Given the description of an element on the screen output the (x, y) to click on. 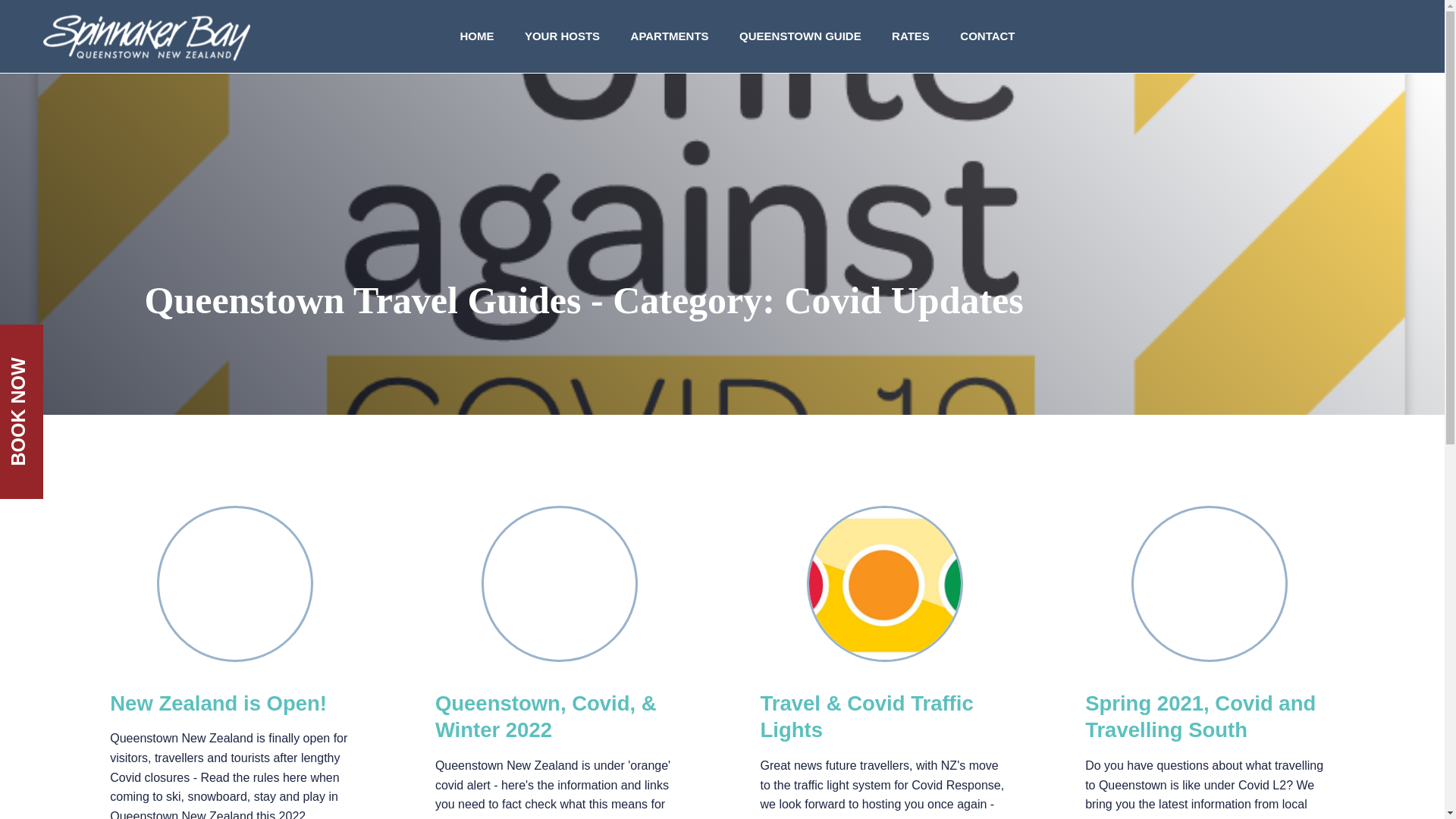
Read more about 'New Zealand is Open!'... (218, 702)
Read more about 'New Zealand is Open!'... (234, 583)
Spinnaker Bay Queenstown Apartments Apartments Page (669, 36)
BOOK NOW (85, 347)
Read more about 'Spring, Covid and Travelling South'... (1209, 583)
A guide to things to do in Queenstown (799, 36)
QUEENSTOWN GUIDE (799, 36)
Spinnaker Bay Queenstown Apartments Home Page (476, 36)
New Zealand is Open! (218, 702)
CONTACT (986, 36)
APARTMENTS (669, 36)
Spinnaker Bay Queenstown Apartments Rates and Specials (910, 36)
Contact details for Spinnaker Bay Queenstown Apartments (986, 36)
Meet your Spinnaker Bay Queenstown Apartments Hosts (561, 36)
RATES (910, 36)
